Given the description of an element on the screen output the (x, y) to click on. 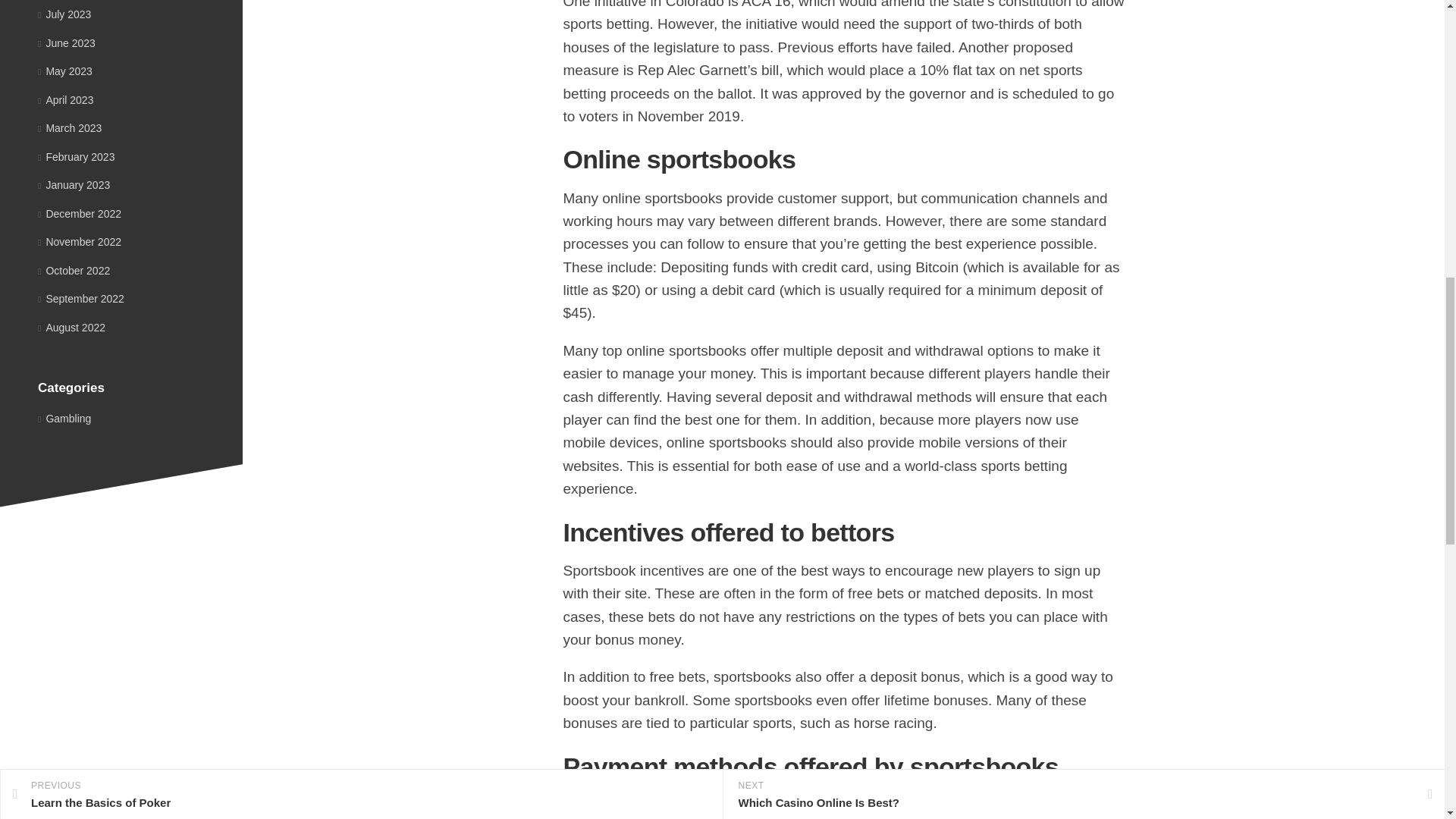
January 2023 (73, 184)
July 2023 (63, 14)
May 2023 (65, 70)
October 2022 (73, 269)
March 2023 (69, 128)
February 2023 (76, 155)
June 2023 (66, 42)
November 2022 (78, 241)
April 2023 (65, 100)
December 2022 (78, 214)
